Given the description of an element on the screen output the (x, y) to click on. 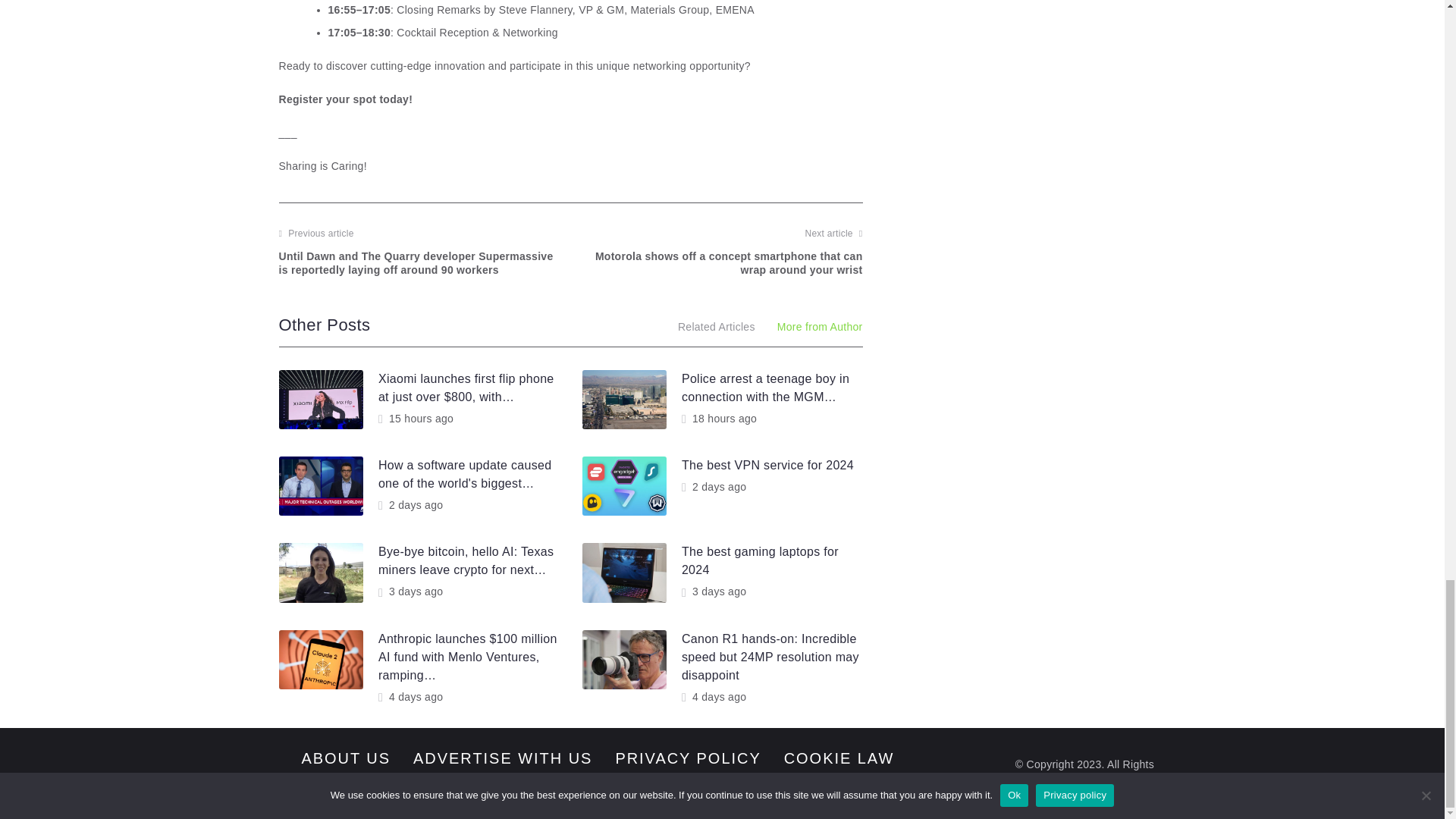
3 days ago (410, 591)
The best VPN service for 2024 (767, 464)
15 hours ago (415, 418)
The best gaming laptops for 2024 (759, 560)
2 days ago (410, 504)
2 days ago (713, 486)
The best VPN service for 2024 (767, 464)
3 days ago (713, 591)
The best gaming laptops for 2024 (759, 560)
